Given the description of an element on the screen output the (x, y) to click on. 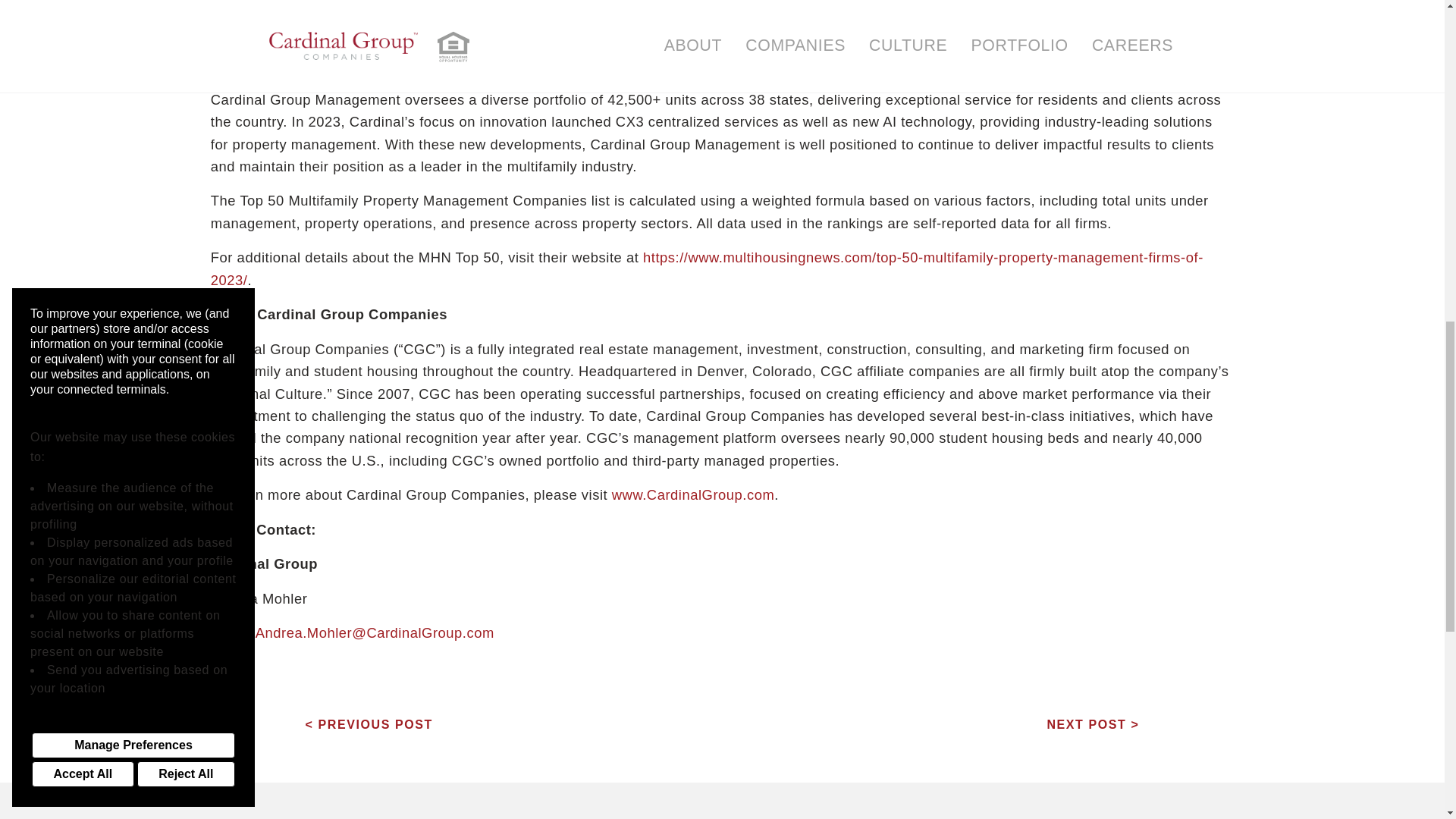
www.CardinalGroup.com (690, 494)
